Given the description of an element on the screen output the (x, y) to click on. 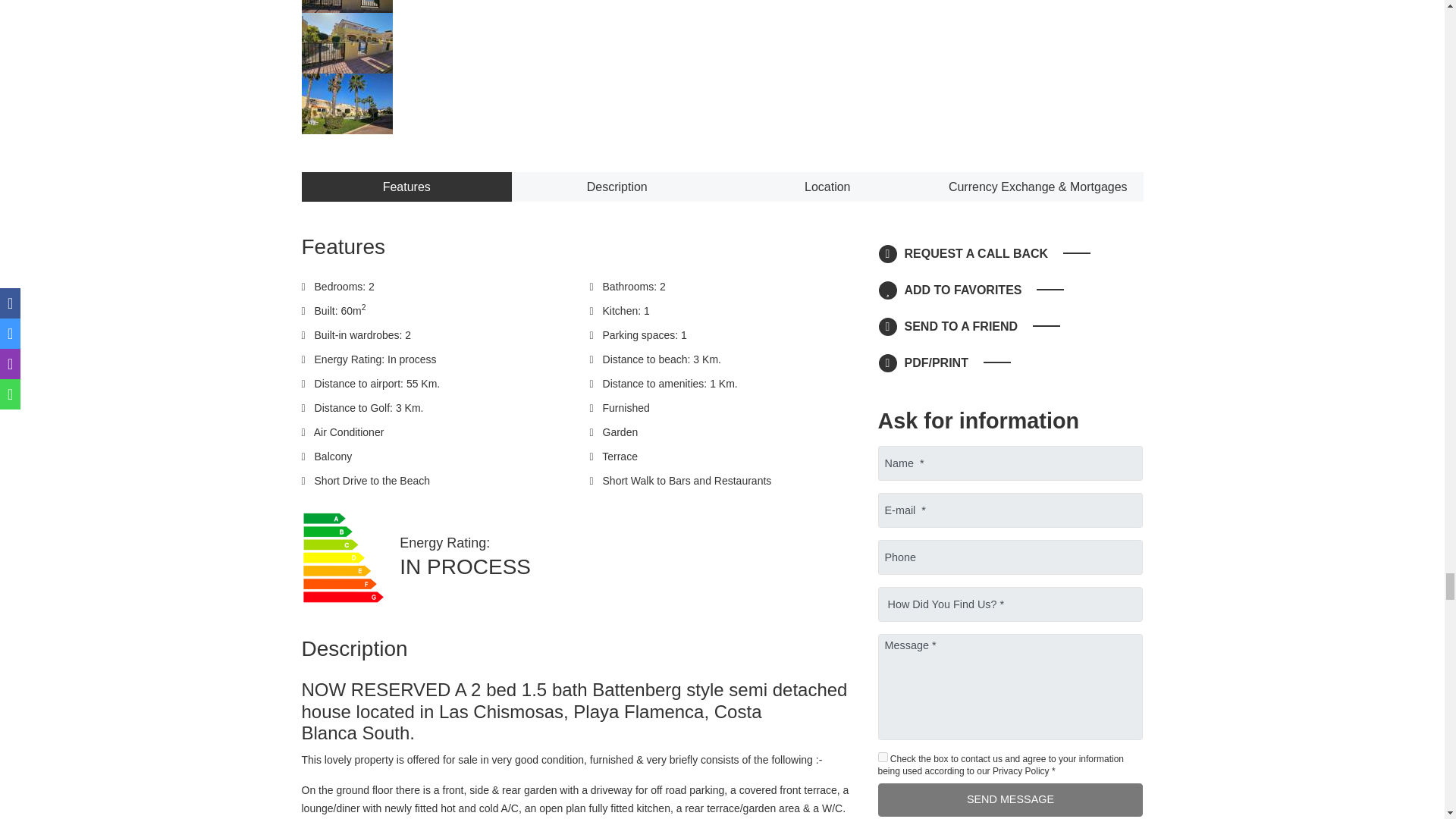
on (882, 757)
Send message (1009, 799)
